Given the description of an element on the screen output the (x, y) to click on. 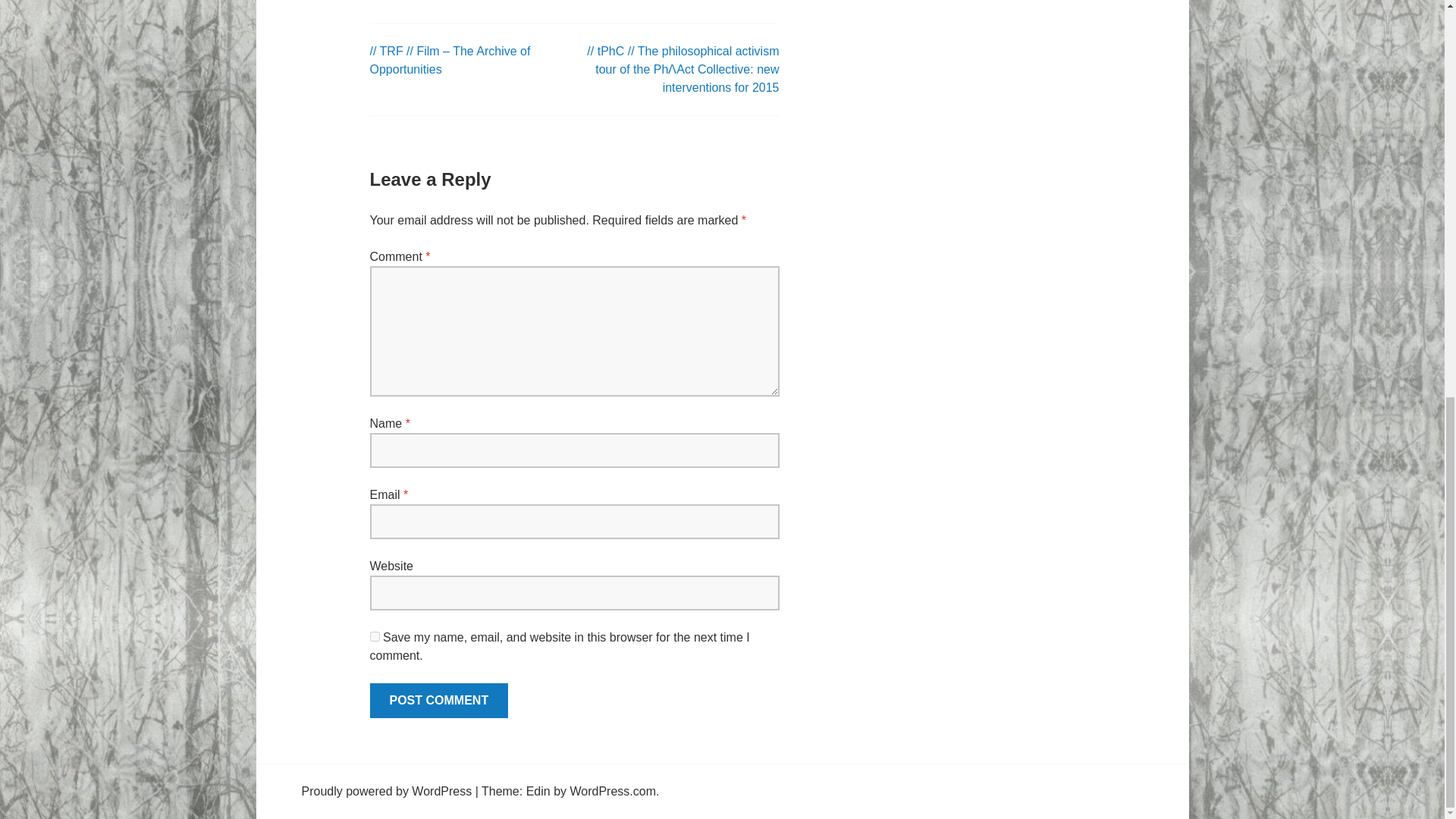
Proudly powered by WordPress (386, 790)
Post Comment (438, 700)
yes (374, 636)
WordPress.com (612, 790)
Post Comment (438, 700)
